Given the description of an element on the screen output the (x, y) to click on. 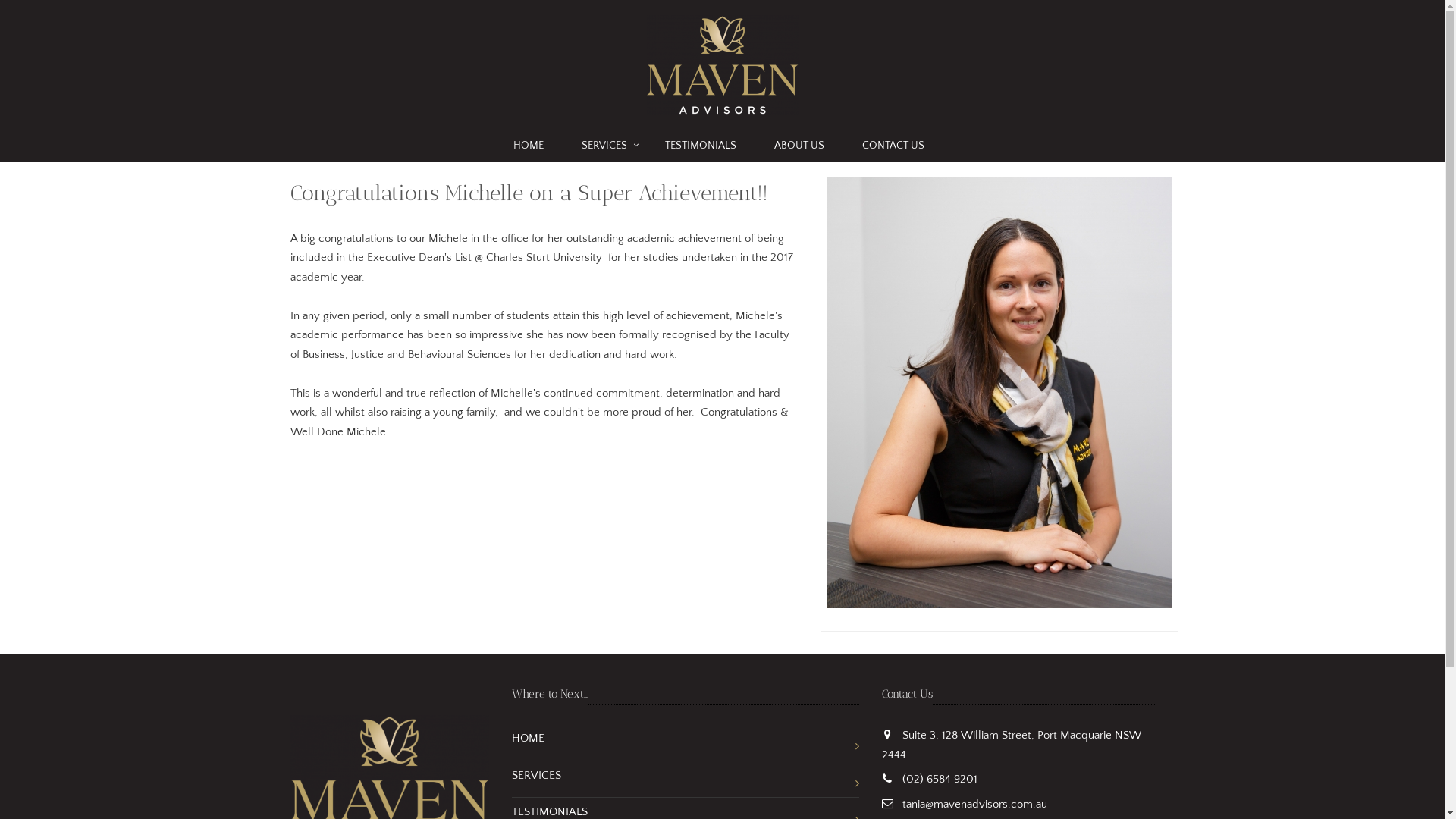
TESTIMONIALS Element type: text (703, 146)
tania@mavenadvisors.com.au Element type: text (974, 803)
ABOUT US Element type: text (802, 146)
HOME Element type: text (531, 146)
SERVICES Element type: text (607, 146)
Suite 3, 128 William Street, Port Macquarie NSW 2444 Element type: text (1010, 744)
(02) 6584 9201 Element type: text (939, 778)
HOME Element type: text (685, 742)
CONTACT US Element type: text (896, 146)
SERVICES Element type: text (685, 779)
